Given the description of an element on the screen output the (x, y) to click on. 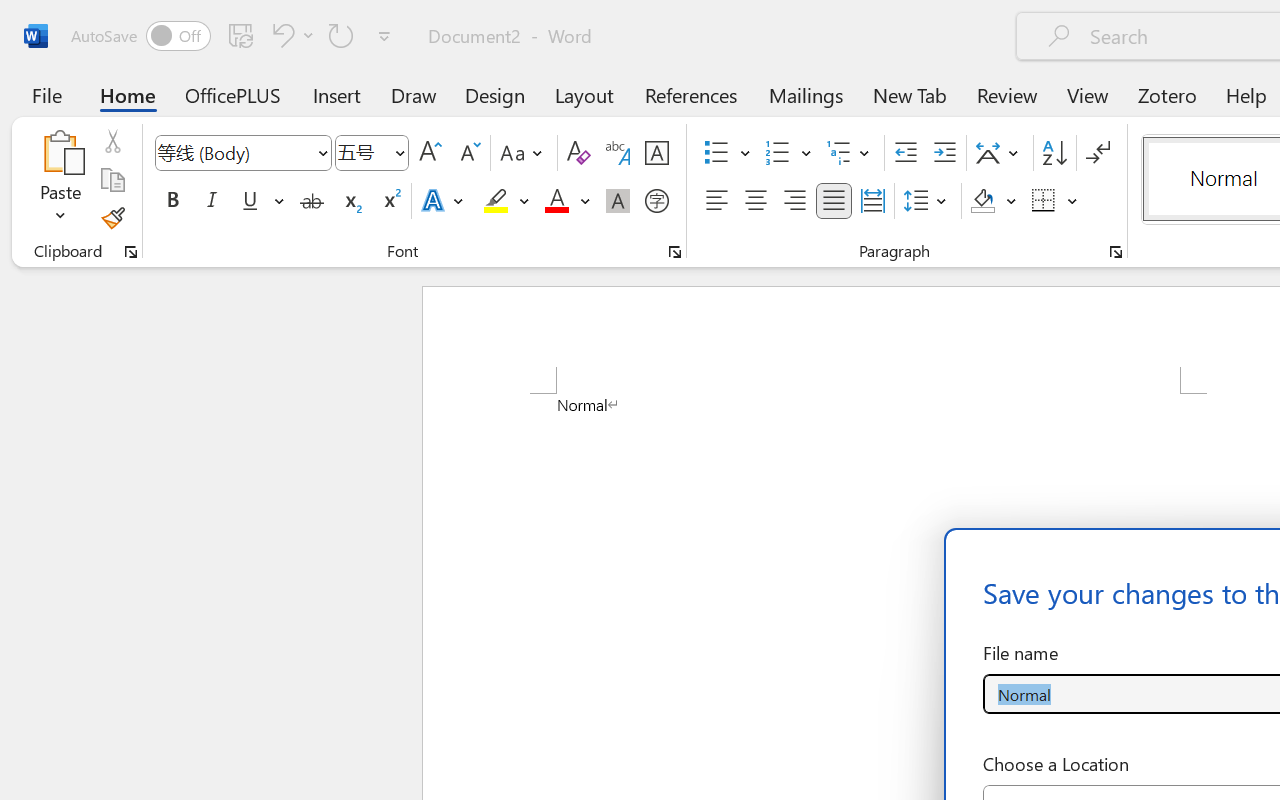
Grow Font (430, 153)
References (690, 94)
Paste (60, 179)
New Tab (909, 94)
More Options (1073, 201)
Insert (337, 94)
Repeat Style (341, 35)
Phonetic Guide... (618, 153)
Undo Apply Quick Style (280, 35)
AutoSave (140, 35)
Layout (584, 94)
Show/Hide Editing Marks (1098, 153)
Text Highlight Color (506, 201)
Asian Layout (1000, 153)
Align Right (794, 201)
